Given the description of an element on the screen output the (x, y) to click on. 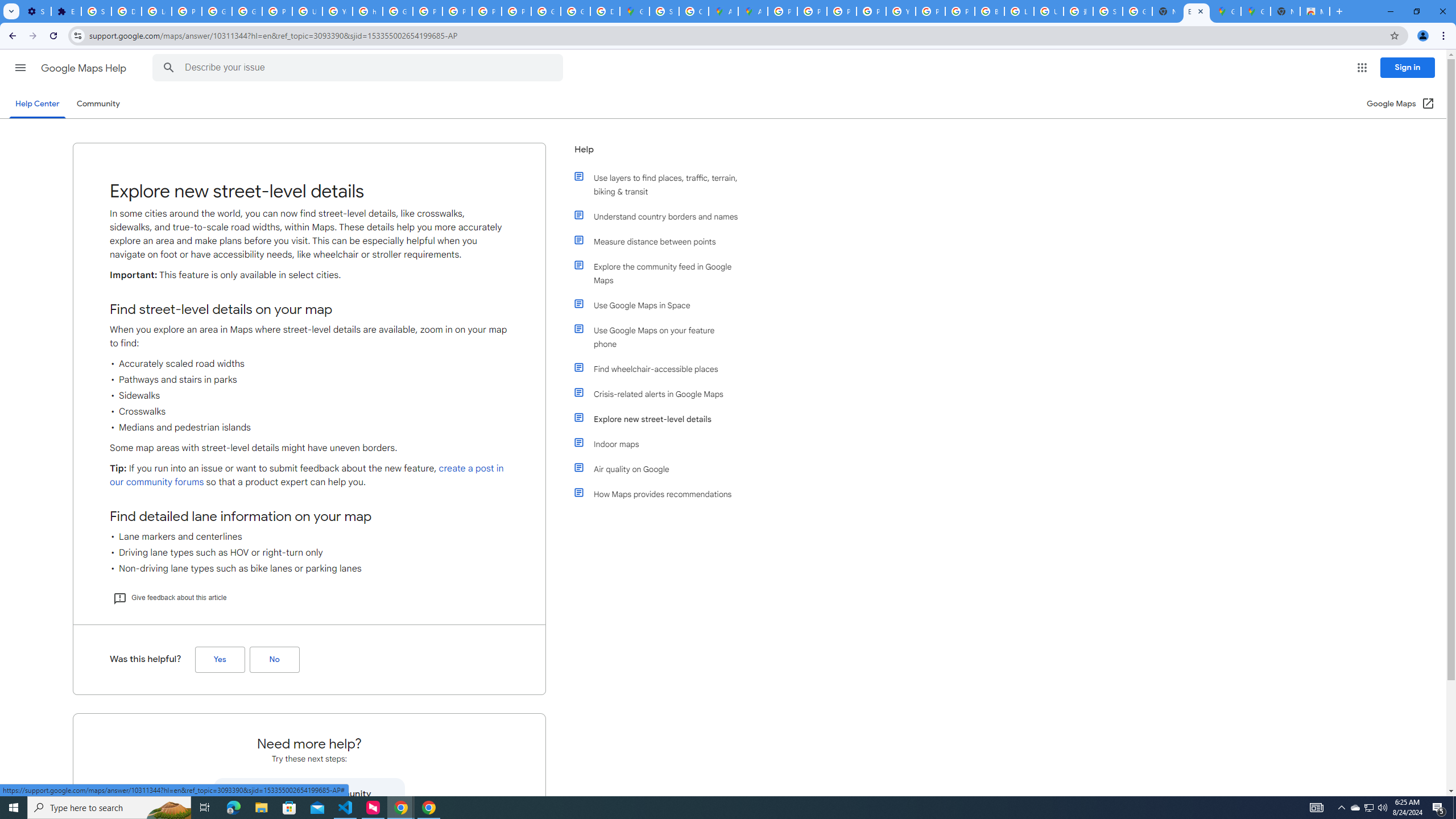
Explore the community feed in Google Maps (661, 273)
Google Maps (1226, 11)
Explore new street-level details - Google Maps Help (1196, 11)
New Tab (1284, 11)
